Given the description of an element on the screen output the (x, y) to click on. 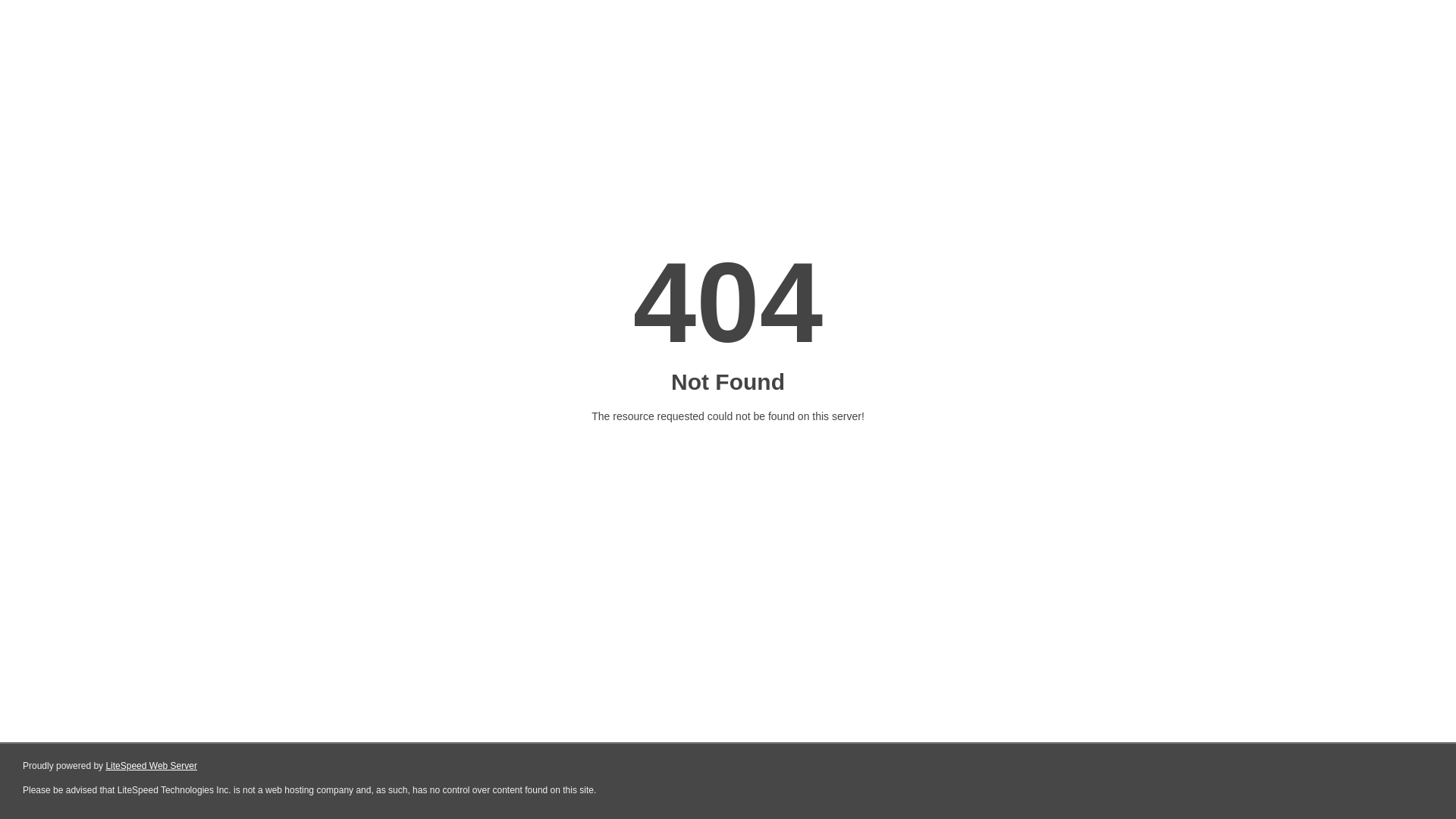
LiteSpeed Web Server Element type: text (151, 765)
